Given the description of an element on the screen output the (x, y) to click on. 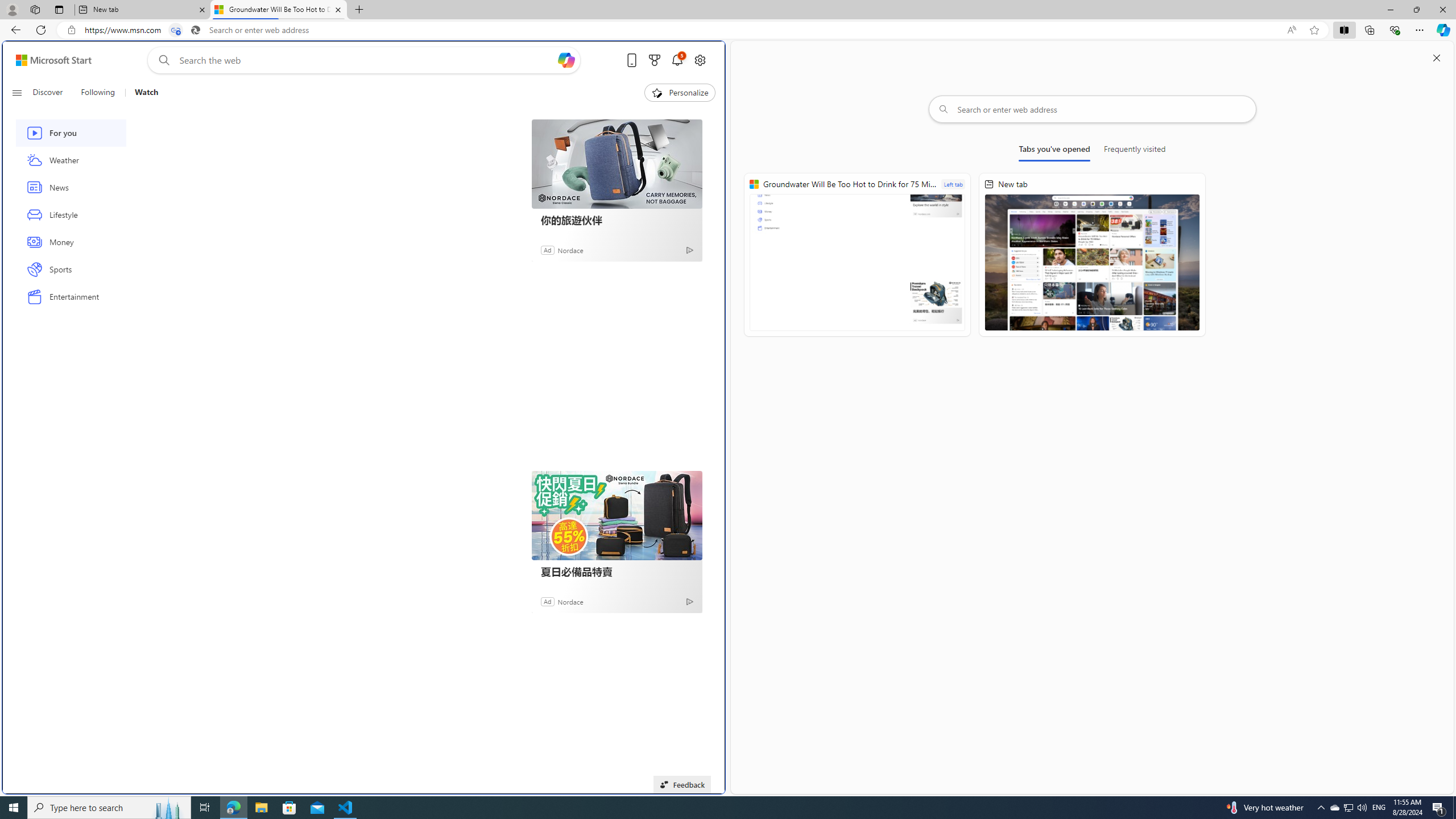
Open navigation menu (16, 92)
Class: button-glyph (16, 92)
Tabs you've opened (1054, 151)
Personalize (679, 92)
Search icon (195, 29)
Frequently visited (1134, 151)
